Given the description of an element on the screen output the (x, y) to click on. 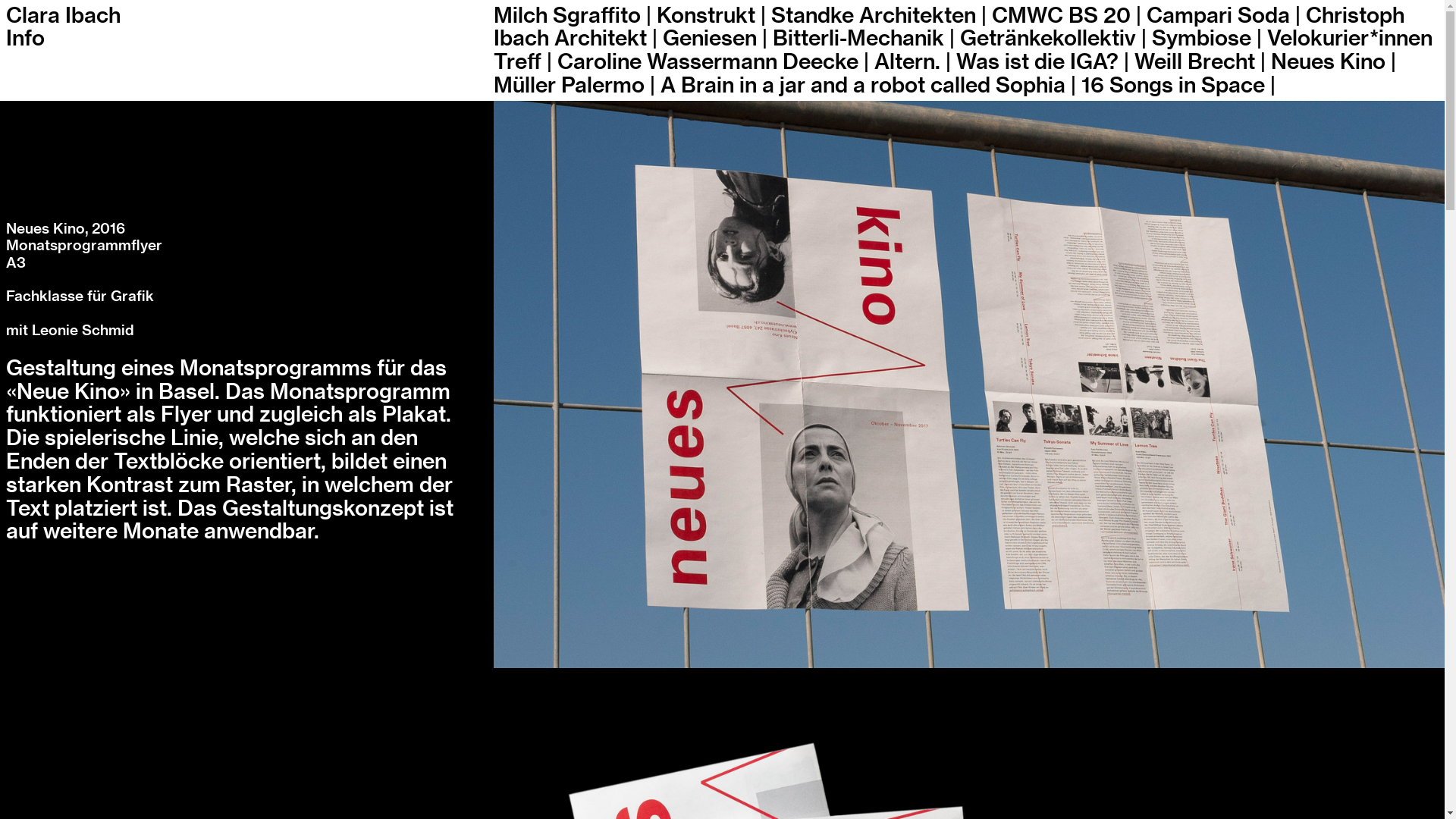
Campari Soda Element type: text (1217, 15)
Clara Ibach Element type: text (63, 15)
A Brain in a jar and a robot called Sophia Element type: text (862, 85)
Altern. Element type: text (907, 61)
Weill Brecht Element type: text (1194, 61)
Info Element type: text (25, 38)
Milch Sgraffito | Element type: text (572, 15)
Christoph Ibach Architekt | Element type: text (948, 27)
Was ist die IGA? Element type: text (1037, 61)
Geniesen Element type: text (709, 38)
Symbiose Element type: text (1201, 38)
16 Songs in Space Element type: text (1172, 85)
Konstrukt Element type: text (705, 15)
B Element type: text (779, 38)
| Element type: text (549, 61)
Caroline Wassermann Deecke Element type: text (707, 61)
CMWC BS 20 Element type: text (1060, 15)
Neues Kino Element type: text (1327, 61)
| Element type: text (1138, 15)
Velokurier*innen Treff Element type: text (962, 50)
itterli-Mechanik | Element type: text (870, 38)
Standke Architekten | Element type: text (878, 15)
